Given the description of an element on the screen output the (x, y) to click on. 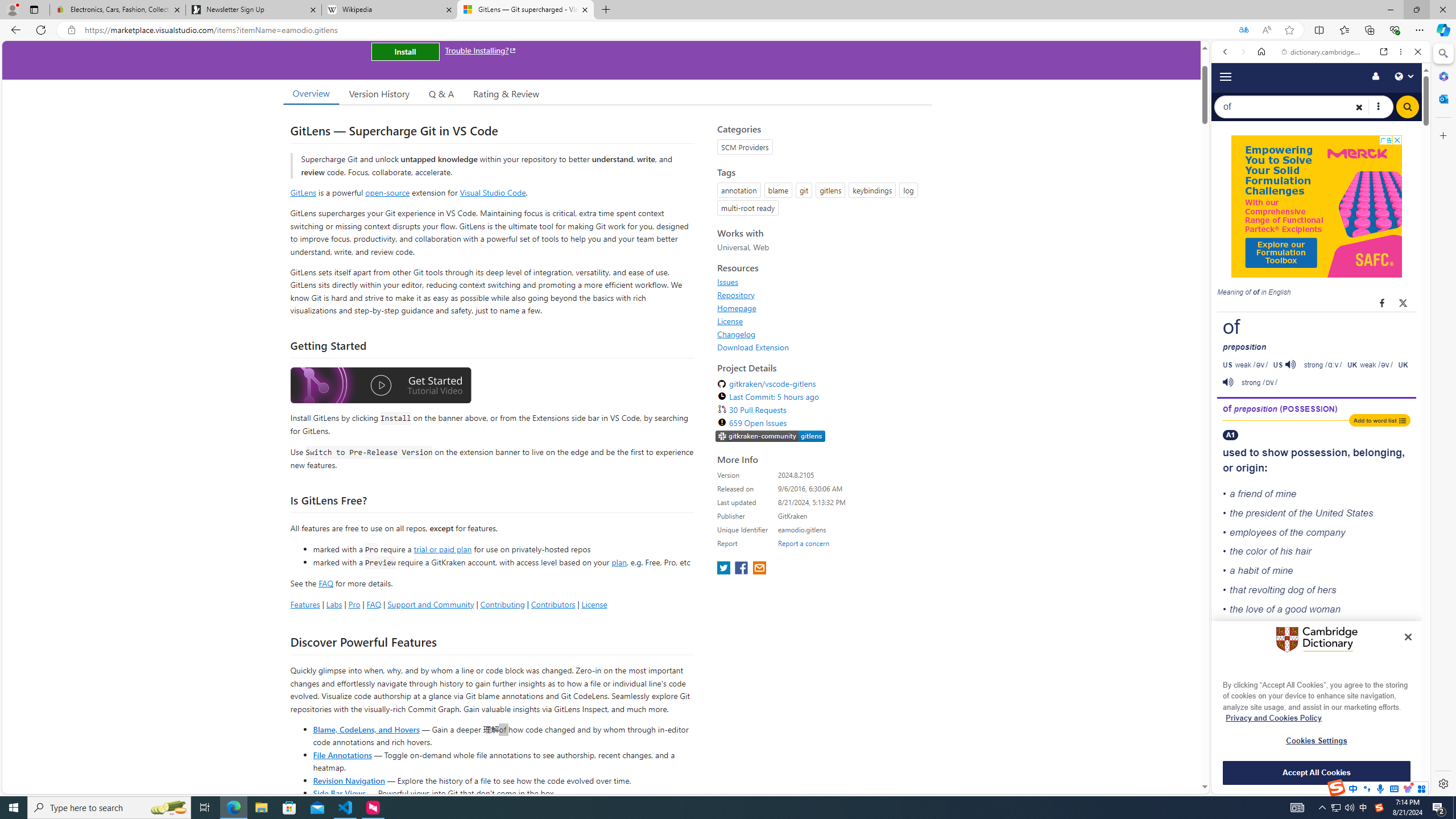
Cambridge Dictionary (1315, 397)
Search Filter, Search Tools (1350, 192)
License (820, 320)
Advertisement (1316, 206)
OFTV (1315, 743)
